Given the description of an element on the screen output the (x, y) to click on. 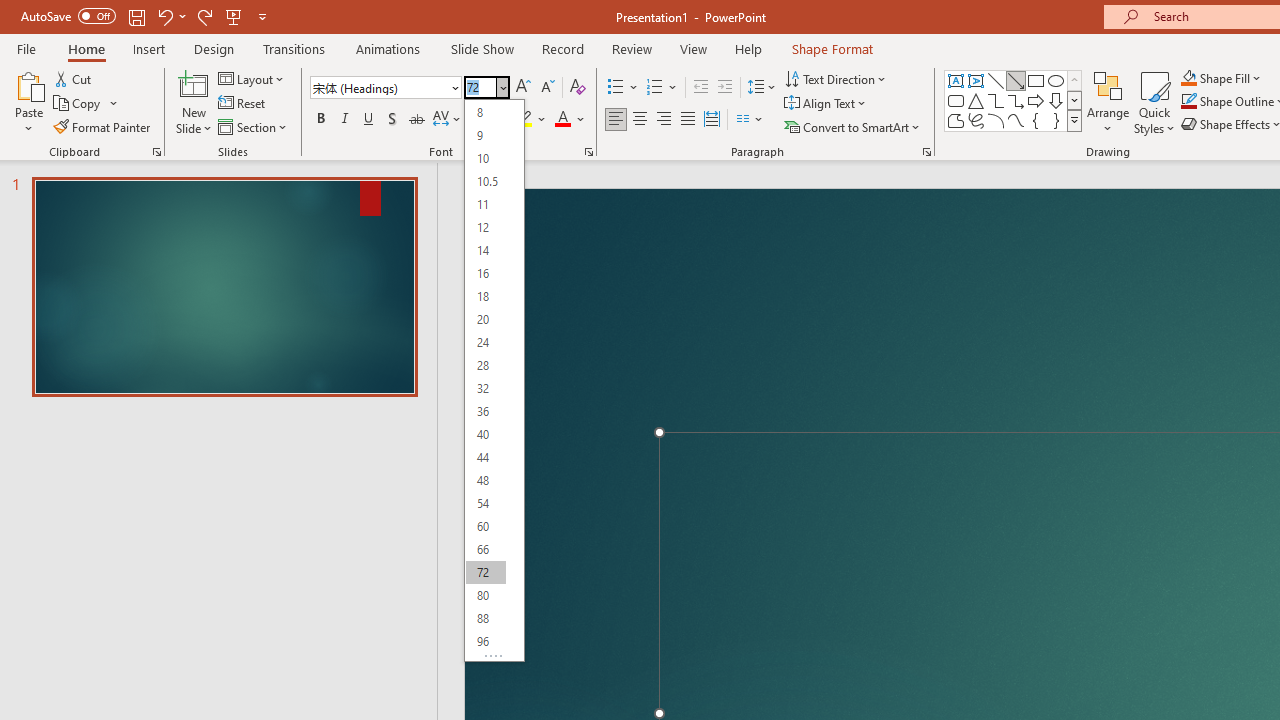
18 (485, 296)
10 (485, 157)
40 (485, 434)
60 (485, 525)
48 (485, 479)
11 (485, 204)
